Given the description of an element on the screen output the (x, y) to click on. 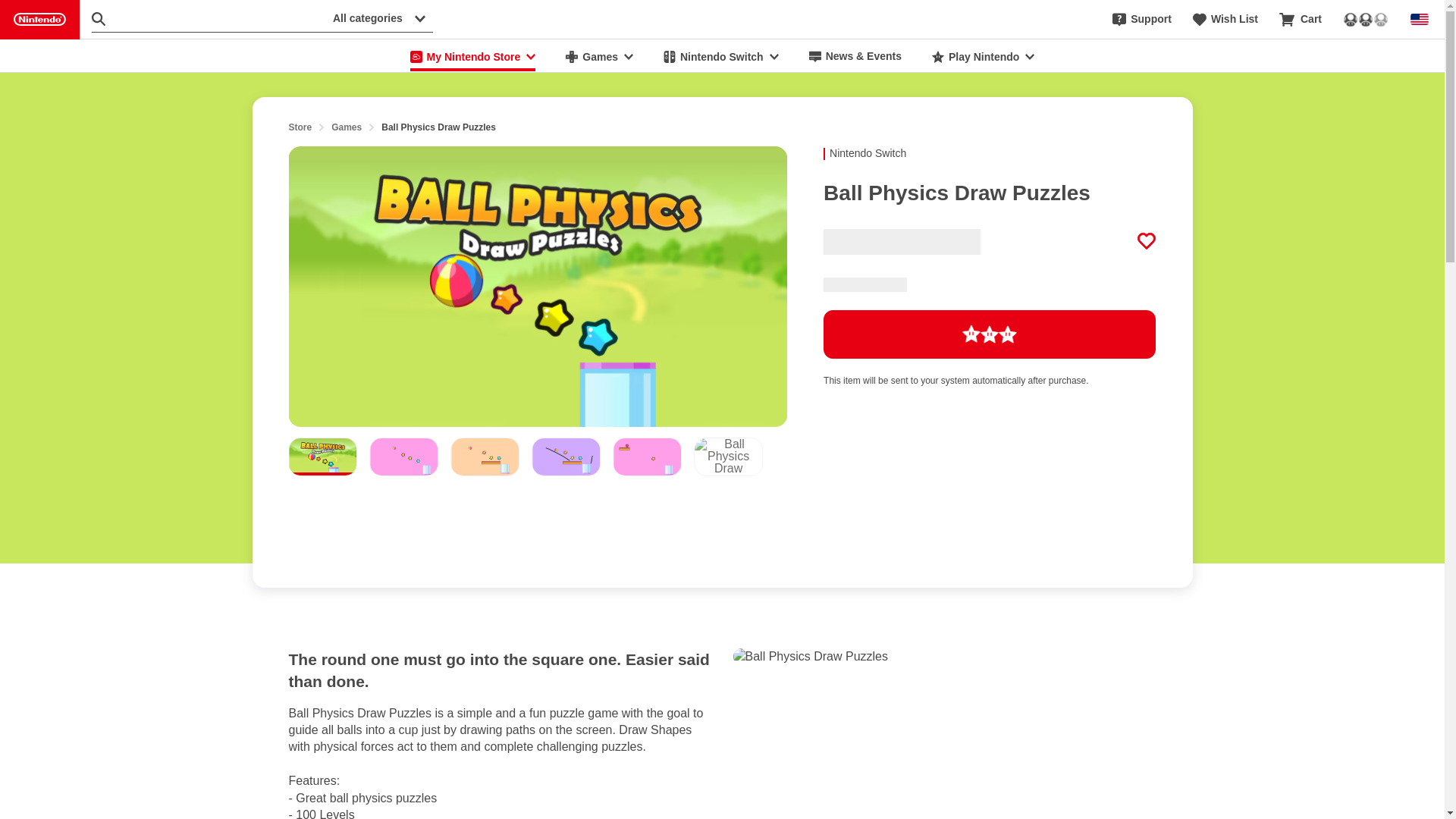
Add to Wish List (1146, 240)
Nintendo (40, 19)
Loading (990, 334)
Play Nintendo (983, 56)
Games (346, 127)
Wish List (1224, 19)
Games (599, 56)
Store (299, 127)
Nintendo Switch (720, 56)
Cart (1300, 19)
